Given the description of an element on the screen output the (x, y) to click on. 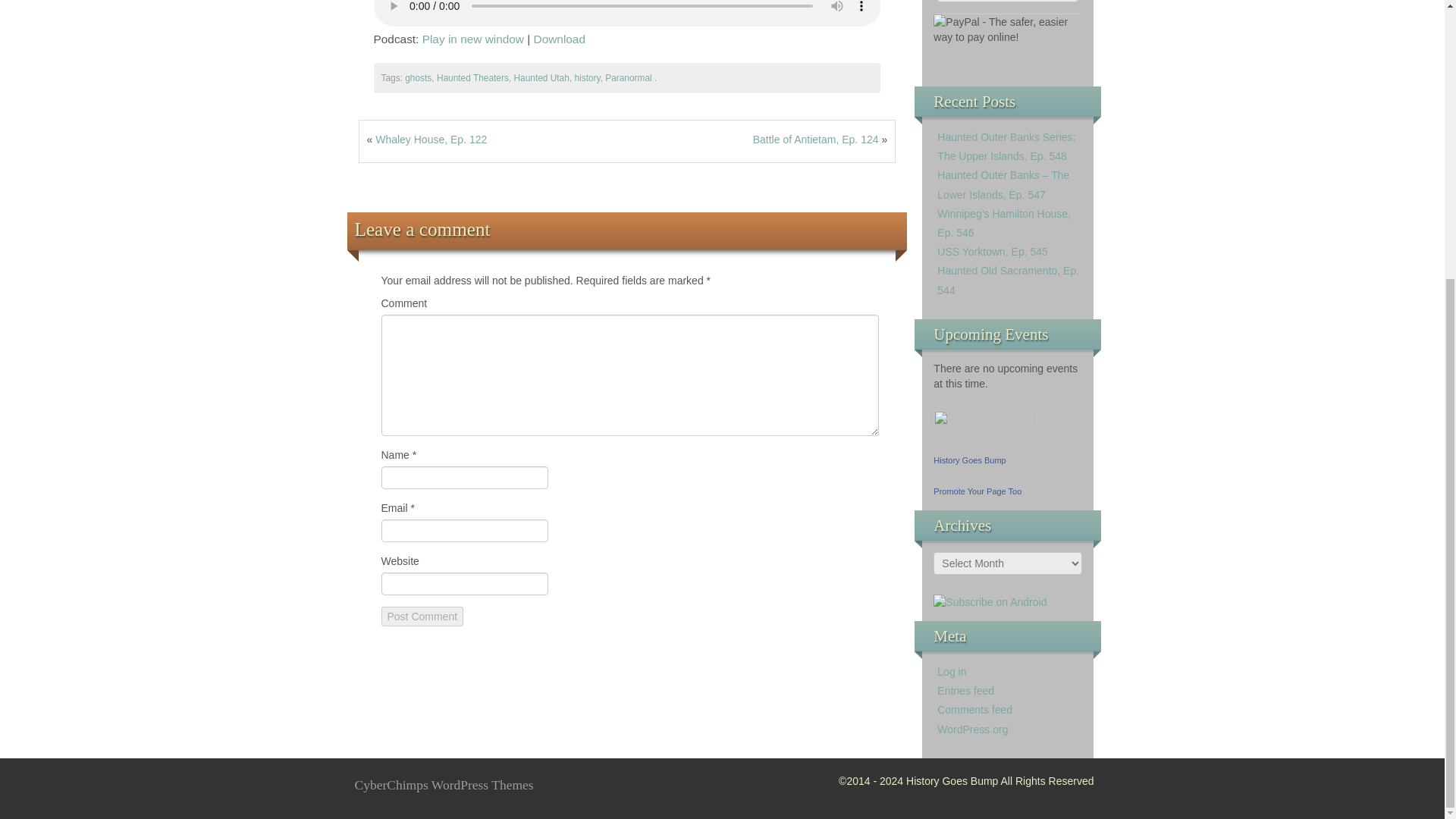
Play in new window (473, 38)
Post Comment (421, 616)
Post Comment (421, 616)
ghosts (417, 77)
Haunted Old Sacramento, Ep. 544 (1007, 279)
Download (559, 38)
Download (559, 38)
Paranormal (627, 77)
History Goes Bump (969, 460)
USS Yorktown, Ep. 545 (992, 251)
Haunted Outer Banks Series: The Upper Islands, Ep. 548 (1006, 146)
Whaley House, Ep. 122 (430, 139)
Haunted Theaters (472, 77)
Play in new window (473, 38)
Haunted Utah (541, 77)
